Given the description of an element on the screen output the (x, y) to click on. 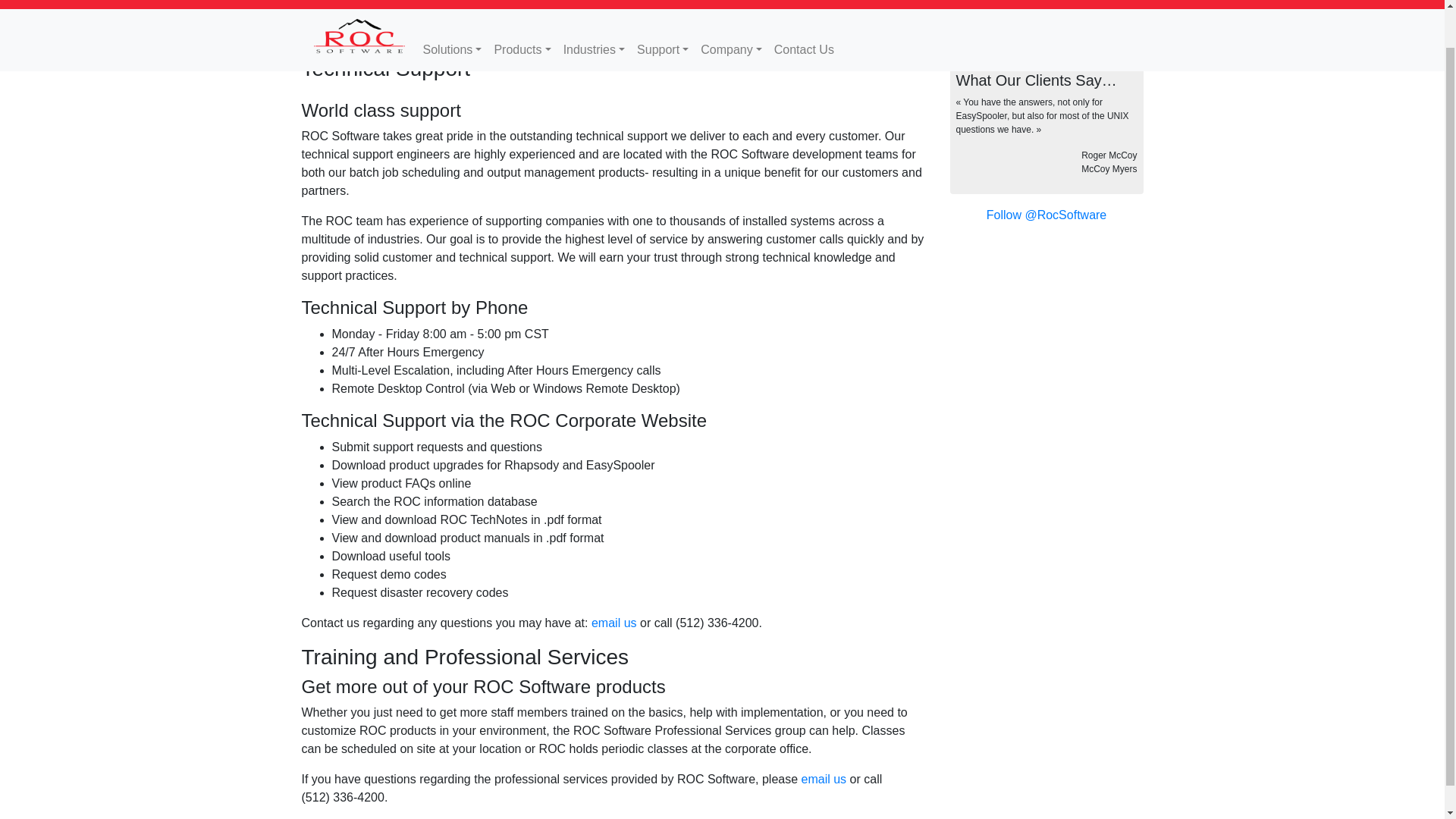
email us (824, 779)
Support (662, 12)
Industries (593, 12)
email us (614, 622)
Company (731, 12)
Contact Us (804, 12)
Solutions (451, 12)
Products (521, 12)
